Given the description of an element on the screen output the (x, y) to click on. 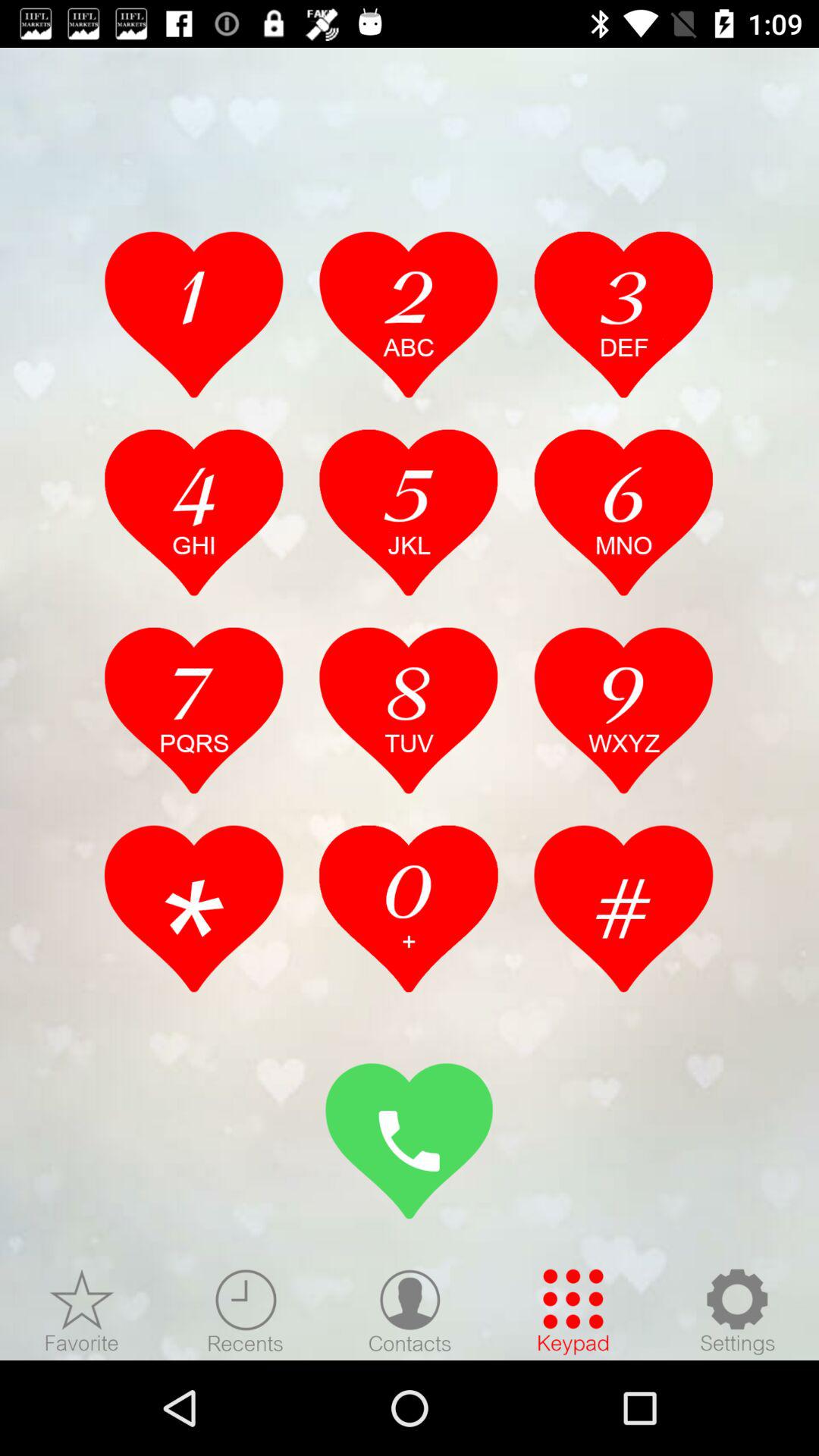
select the number (194, 314)
